Given the description of an element on the screen output the (x, y) to click on. 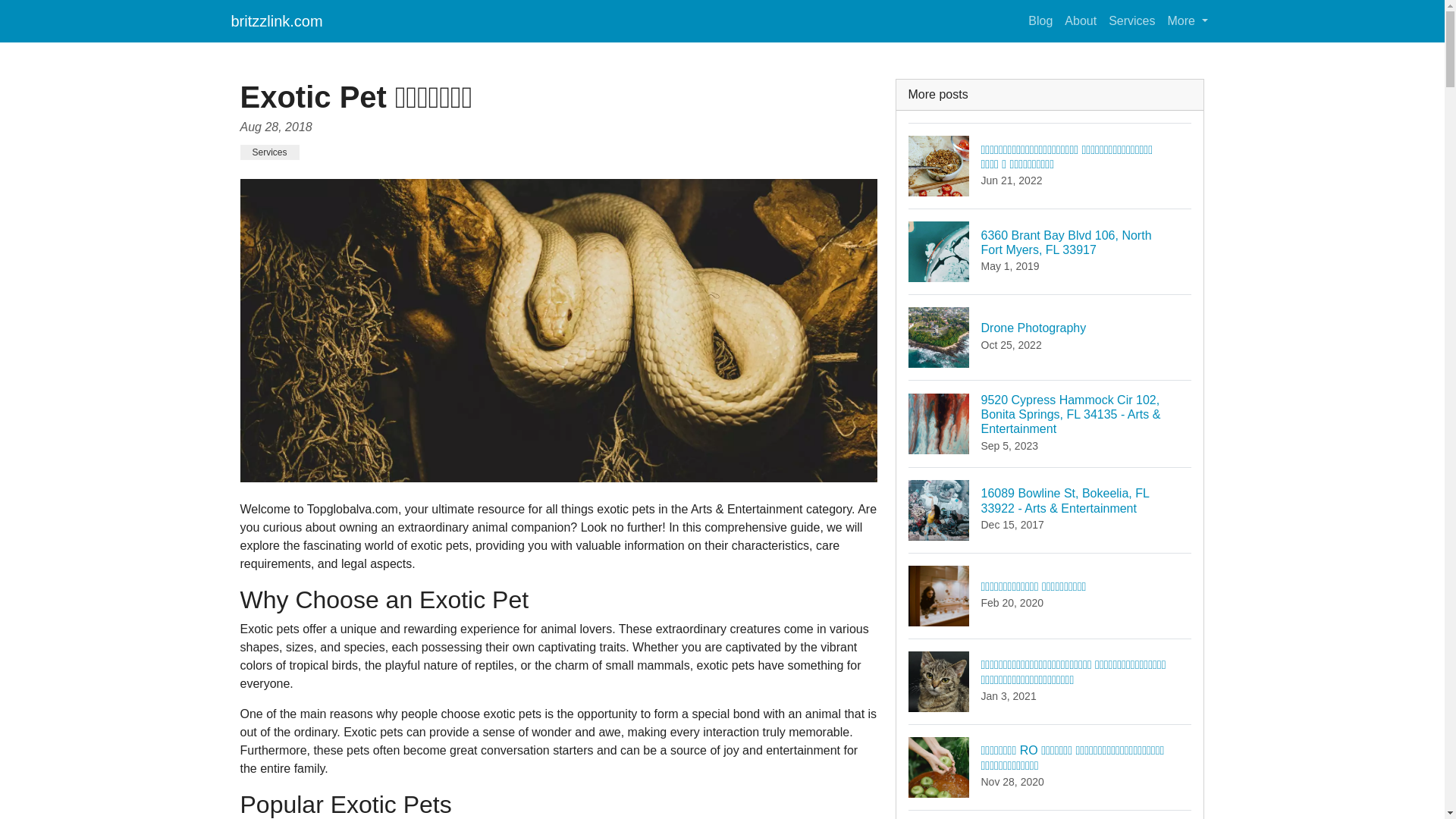
Blog (1040, 20)
More (1187, 20)
britzzlink.com (275, 20)
Services (269, 151)
Services (1131, 20)
About (1050, 337)
